Given the description of an element on the screen output the (x, y) to click on. 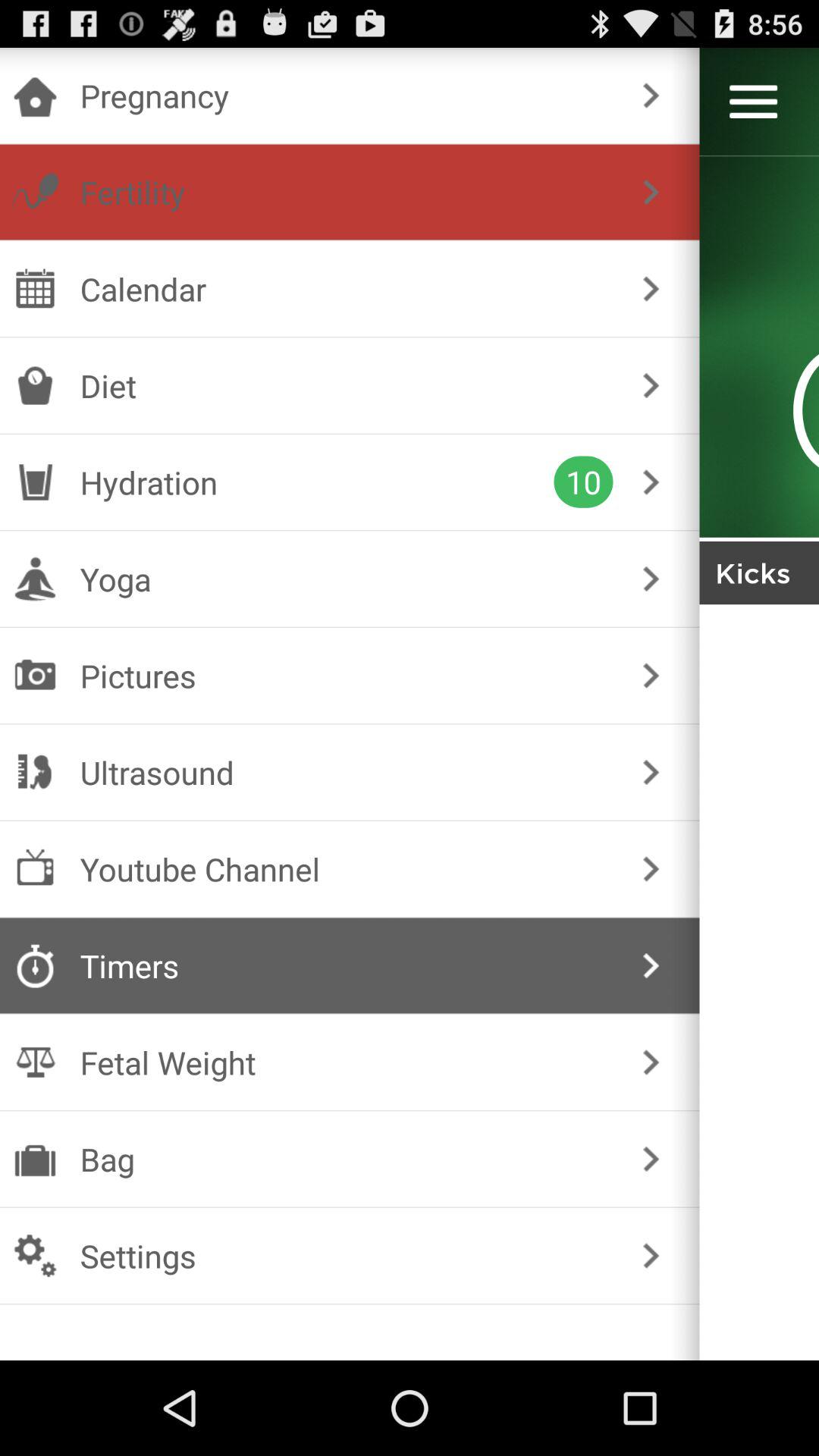
choose the icon above 10 app (346, 385)
